Given the description of an element on the screen output the (x, y) to click on. 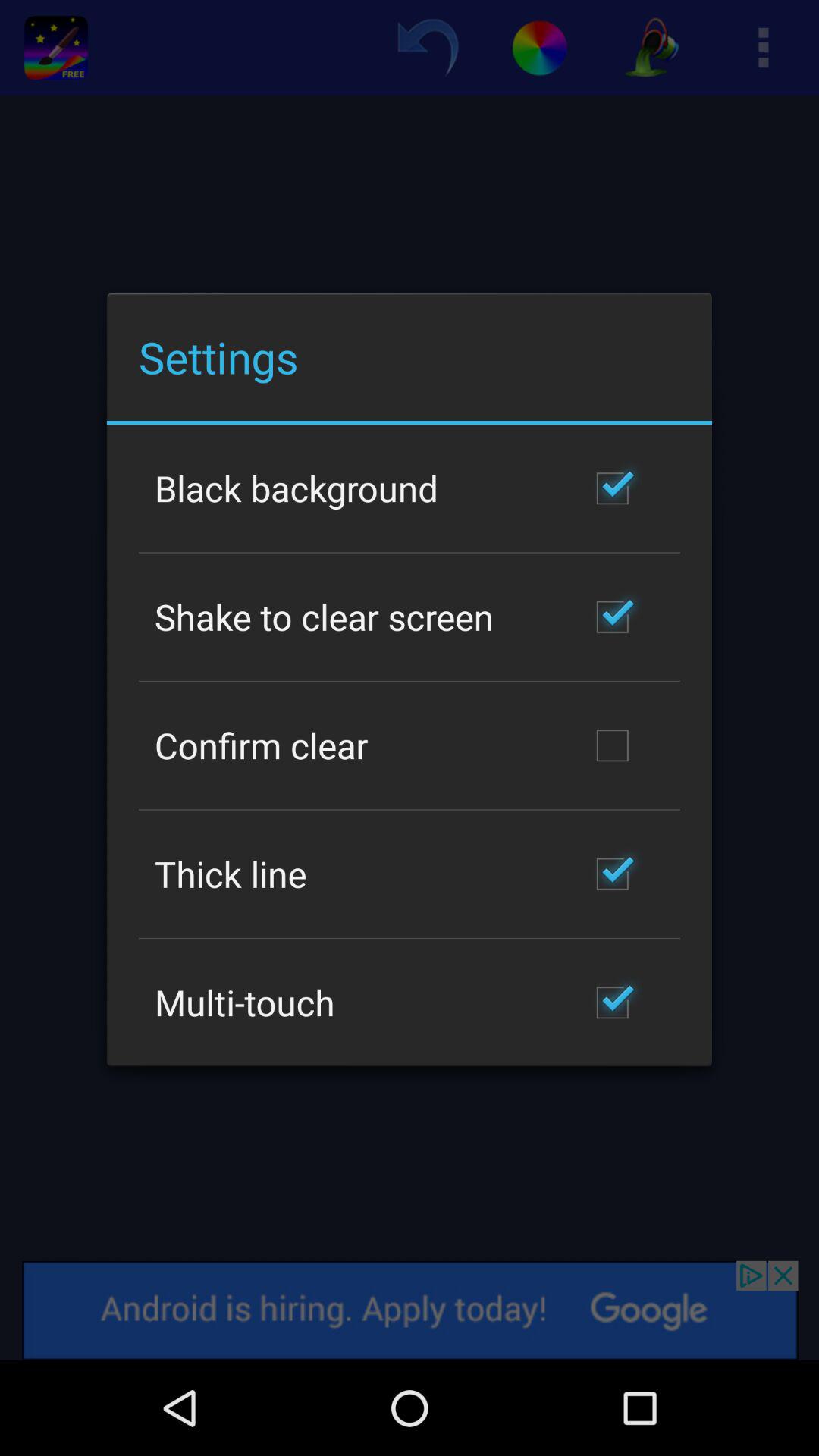
scroll to the black background item (296, 488)
